Given the description of an element on the screen output the (x, y) to click on. 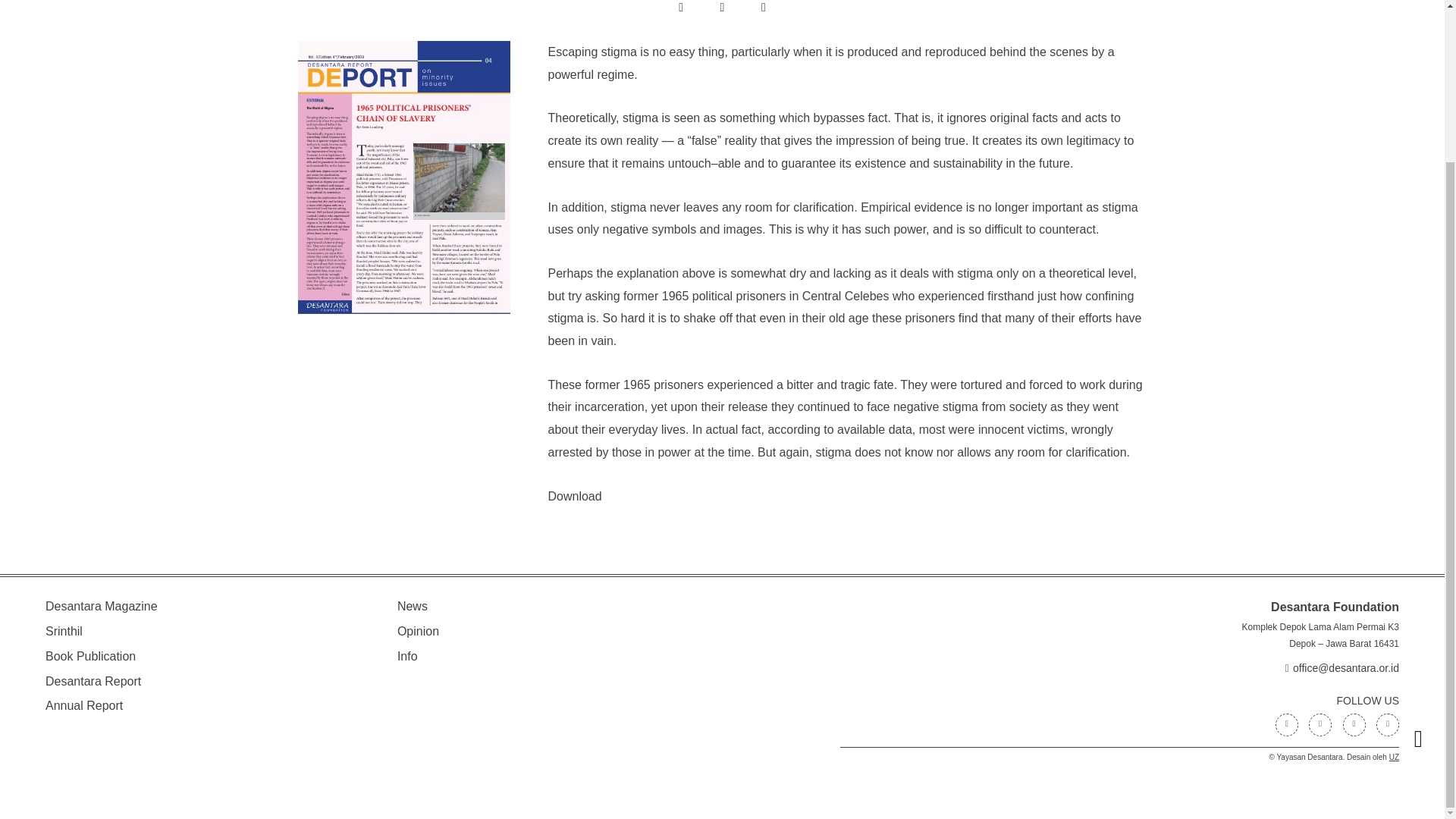
Opinion (418, 631)
Desantara Report (93, 680)
Annual Report (83, 705)
Download (574, 495)
News (412, 605)
Desantara Magazine (101, 605)
Srinthil (63, 631)
Book Publication (90, 656)
UZ (1394, 756)
